Given the description of an element on the screen output the (x, y) to click on. 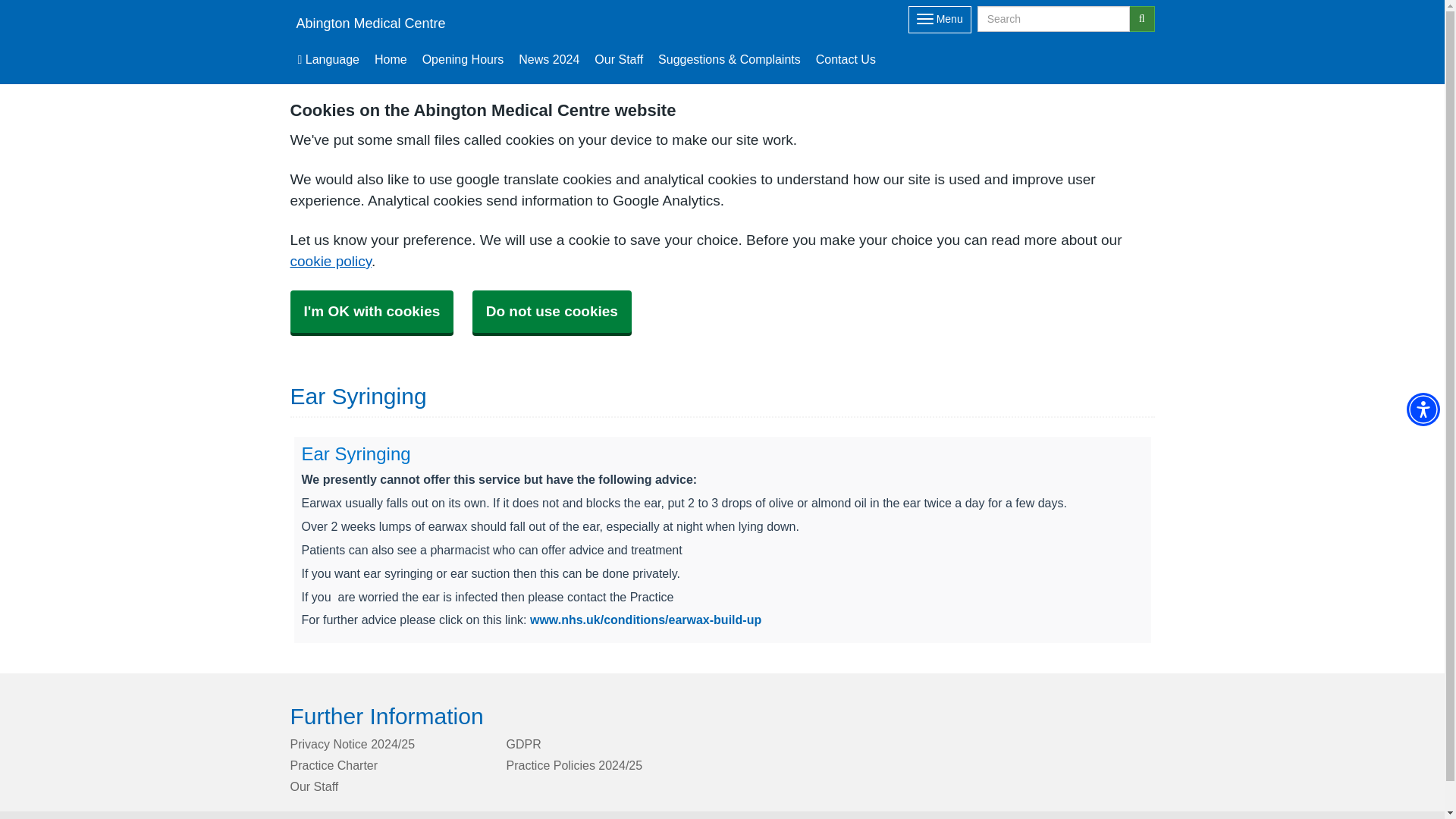
News 2024 (548, 59)
Opening Hours (463, 59)
Language (327, 59)
Contact Us (845, 59)
cookie policy (330, 261)
Our Staff (618, 59)
Menu (939, 19)
Do not use cookies (551, 311)
Home (390, 59)
Accessibility Menu (1422, 409)
Abington Medical Centre (367, 22)
I'm OK with cookies (370, 311)
